Given the description of an element on the screen output the (x, y) to click on. 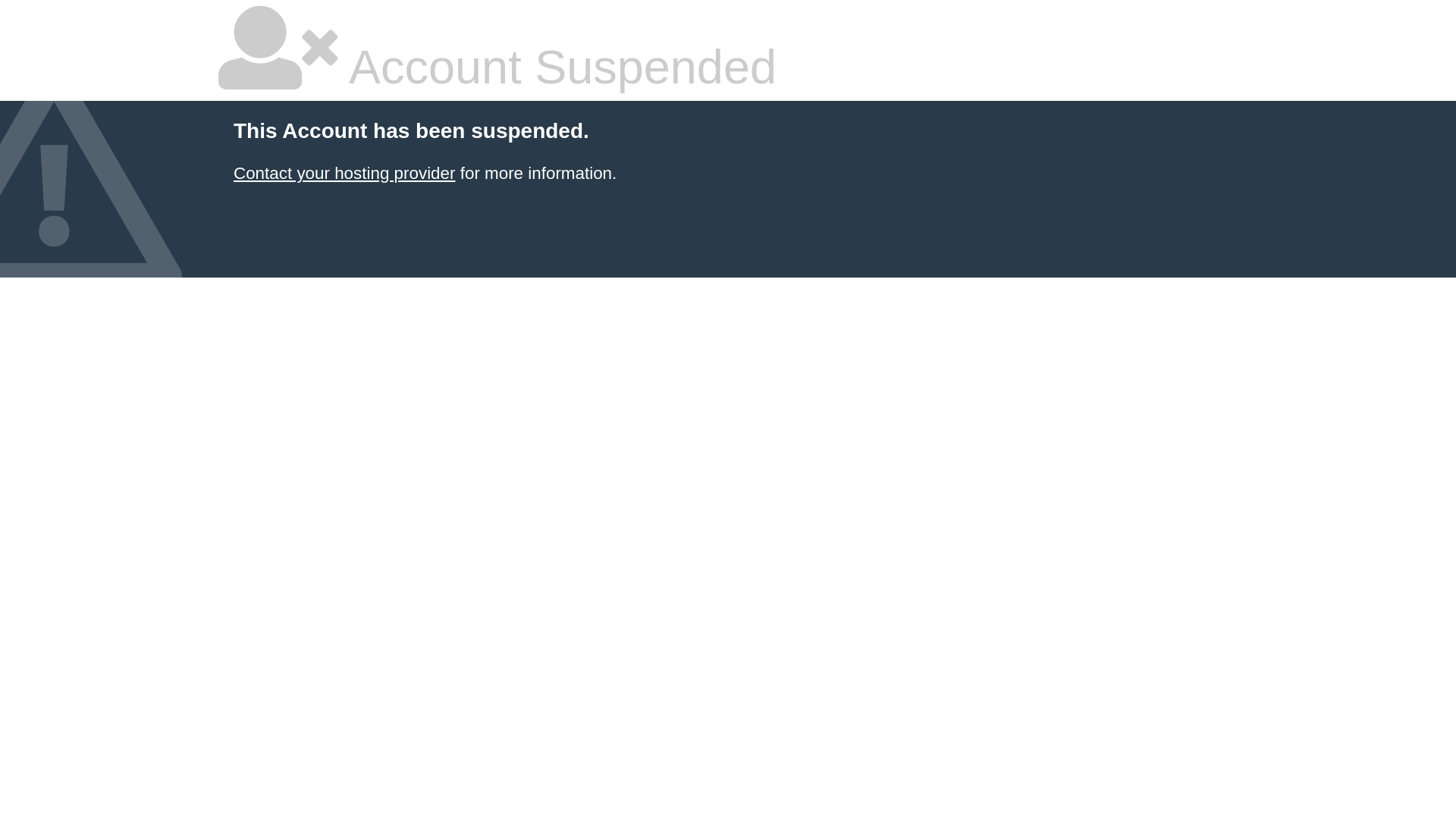
Contact your hosting provider Element type: text (344, 172)
